Given the description of an element on the screen output the (x, y) to click on. 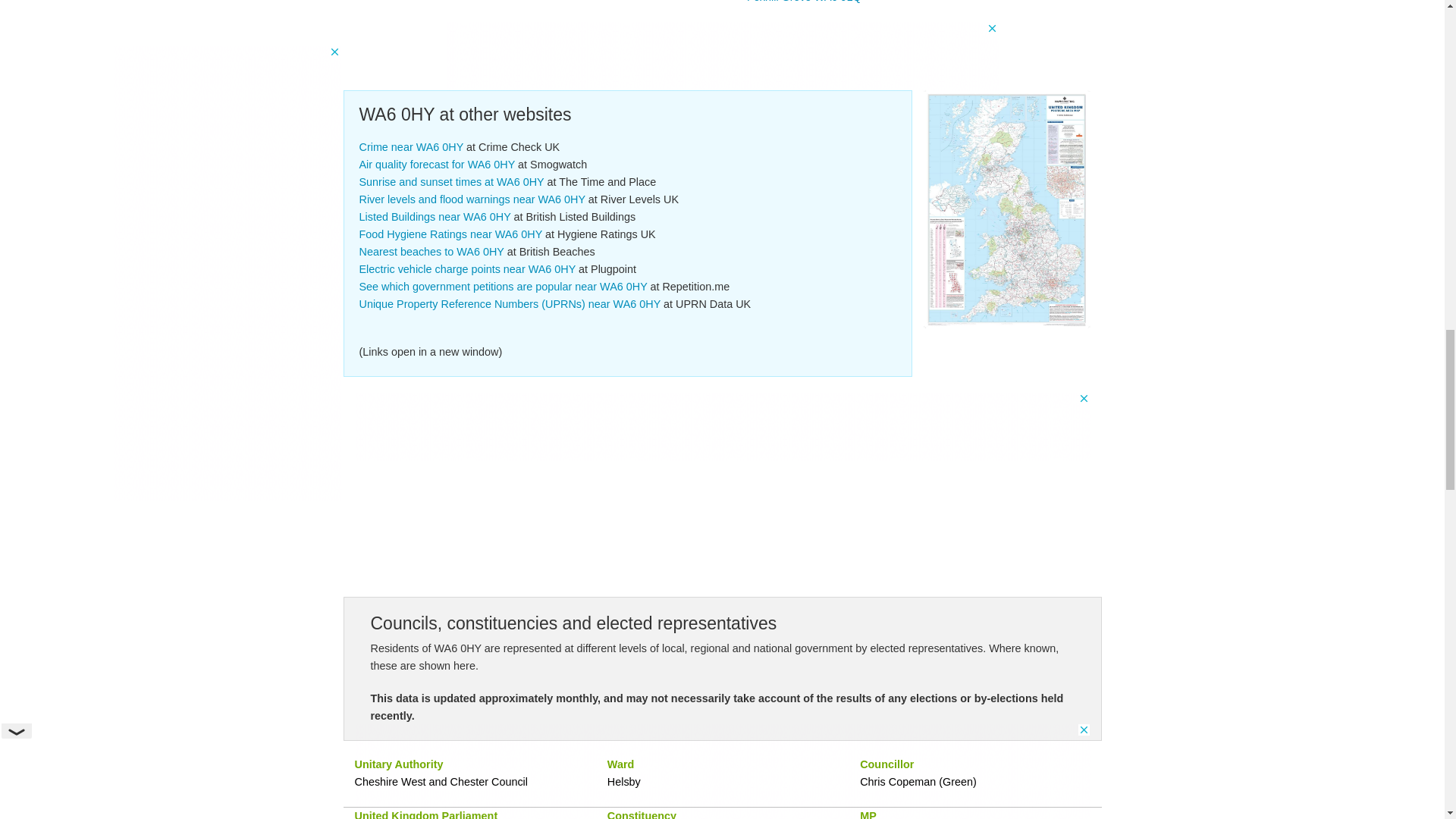
3rd party ad content (721, 56)
3rd party ad content (722, 426)
